Given the description of an element on the screen output the (x, y) to click on. 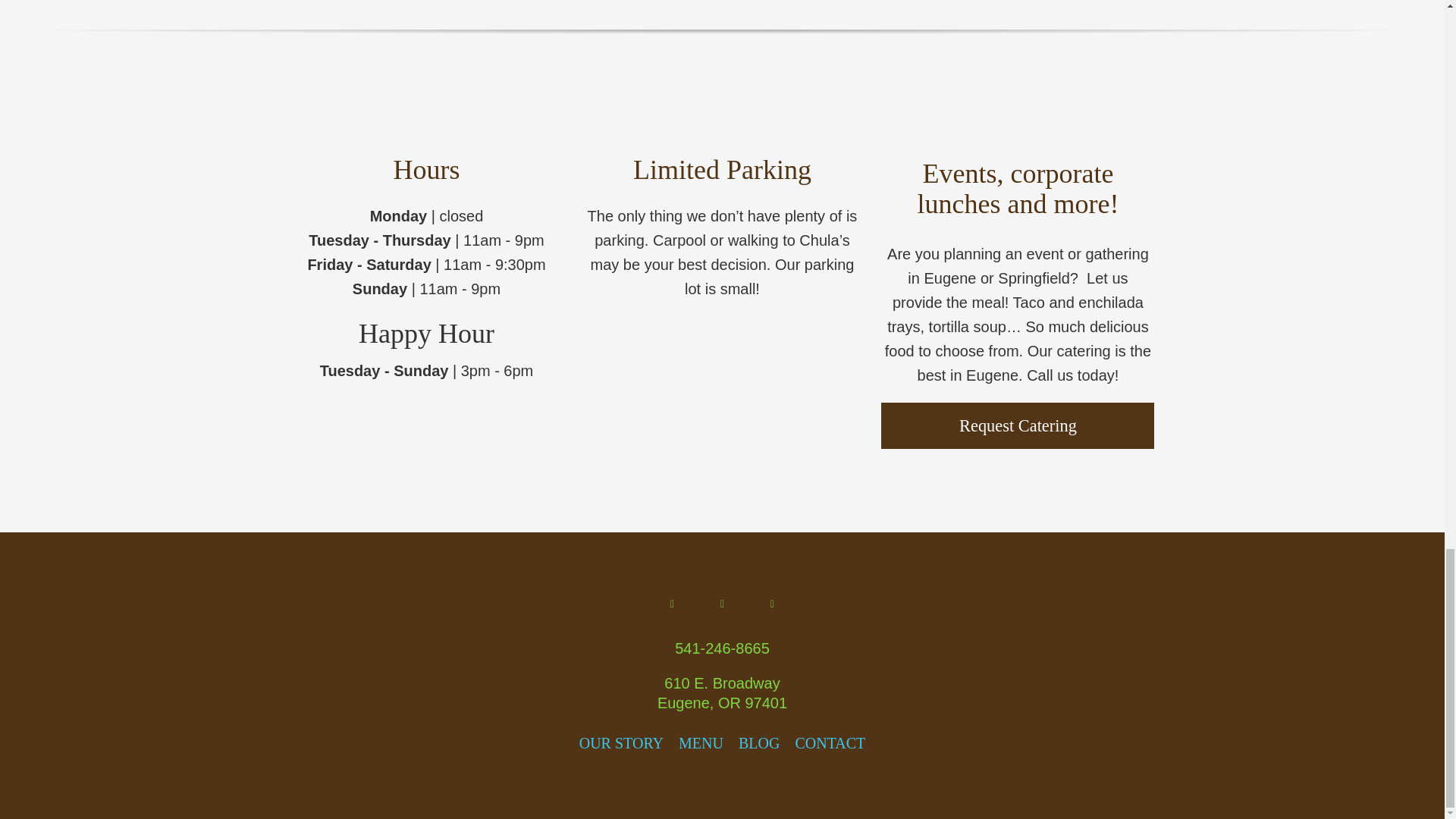
OUR STORYMENUBLOGCONTACT (721, 743)
541-246-8665 (722, 647)
Request Catering (1017, 425)
Instagram (721, 604)
Request Catering (1017, 425)
Twitter (771, 604)
Facebook (671, 604)
